Given the description of an element on the screen output the (x, y) to click on. 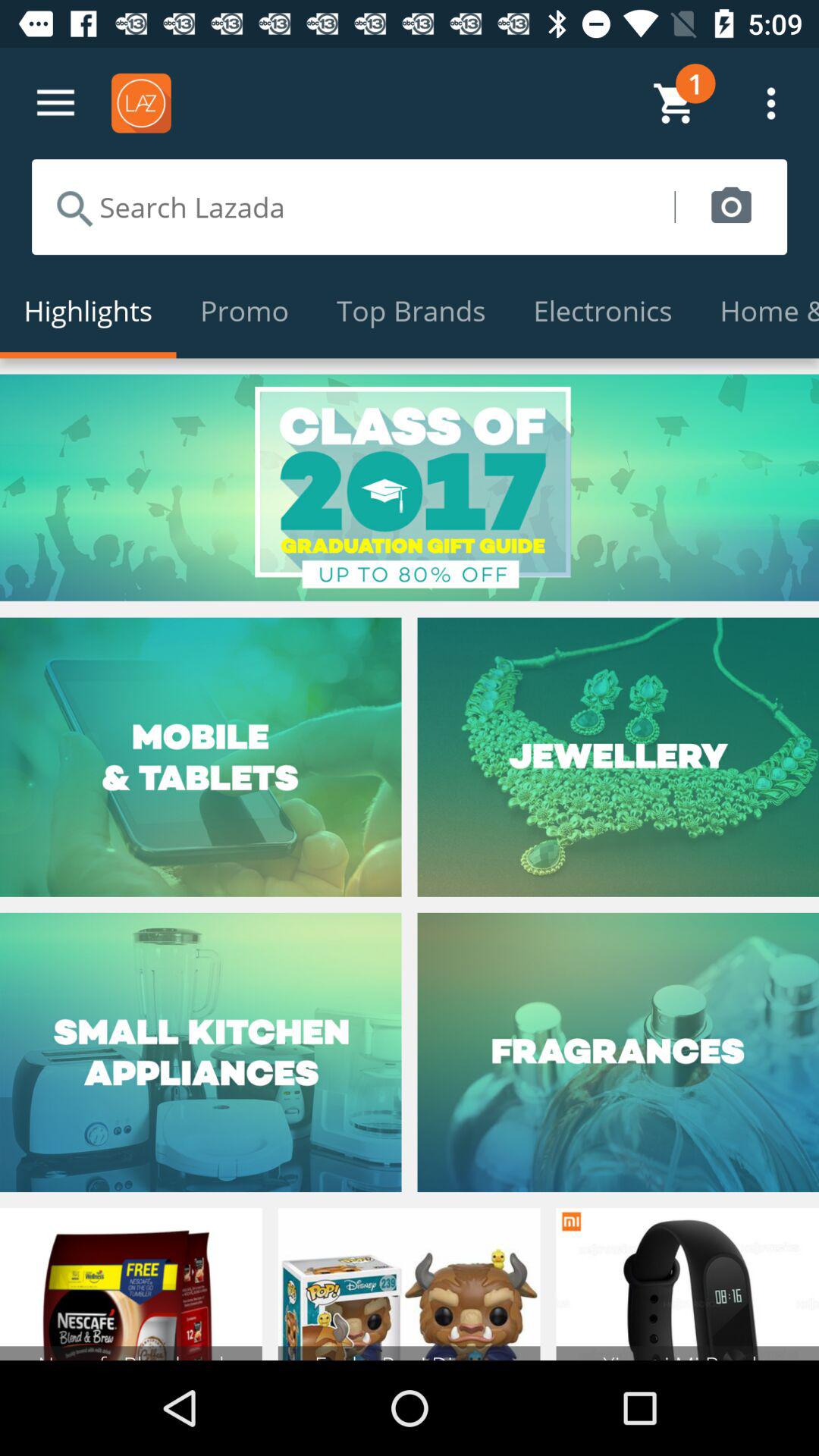
search bar (352, 206)
